Given the description of an element on the screen output the (x, y) to click on. 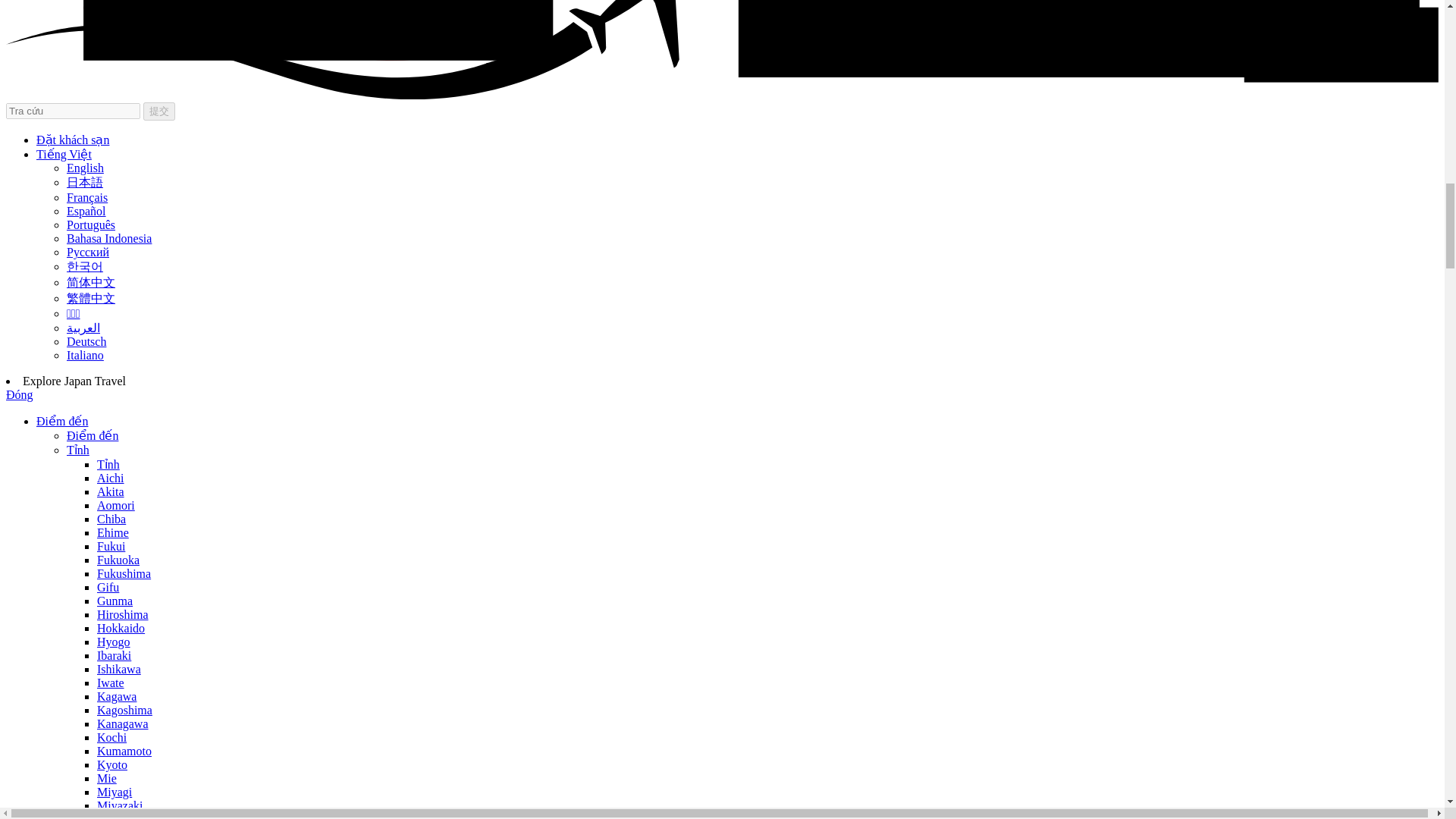
Hiroshima (122, 614)
Hyogo (114, 641)
Deutsch (86, 341)
Akita (110, 491)
Ibaraki (114, 655)
Gunma (114, 600)
Italiano (84, 354)
Gifu (108, 586)
Fukushima (124, 573)
